Given the description of an element on the screen output the (x, y) to click on. 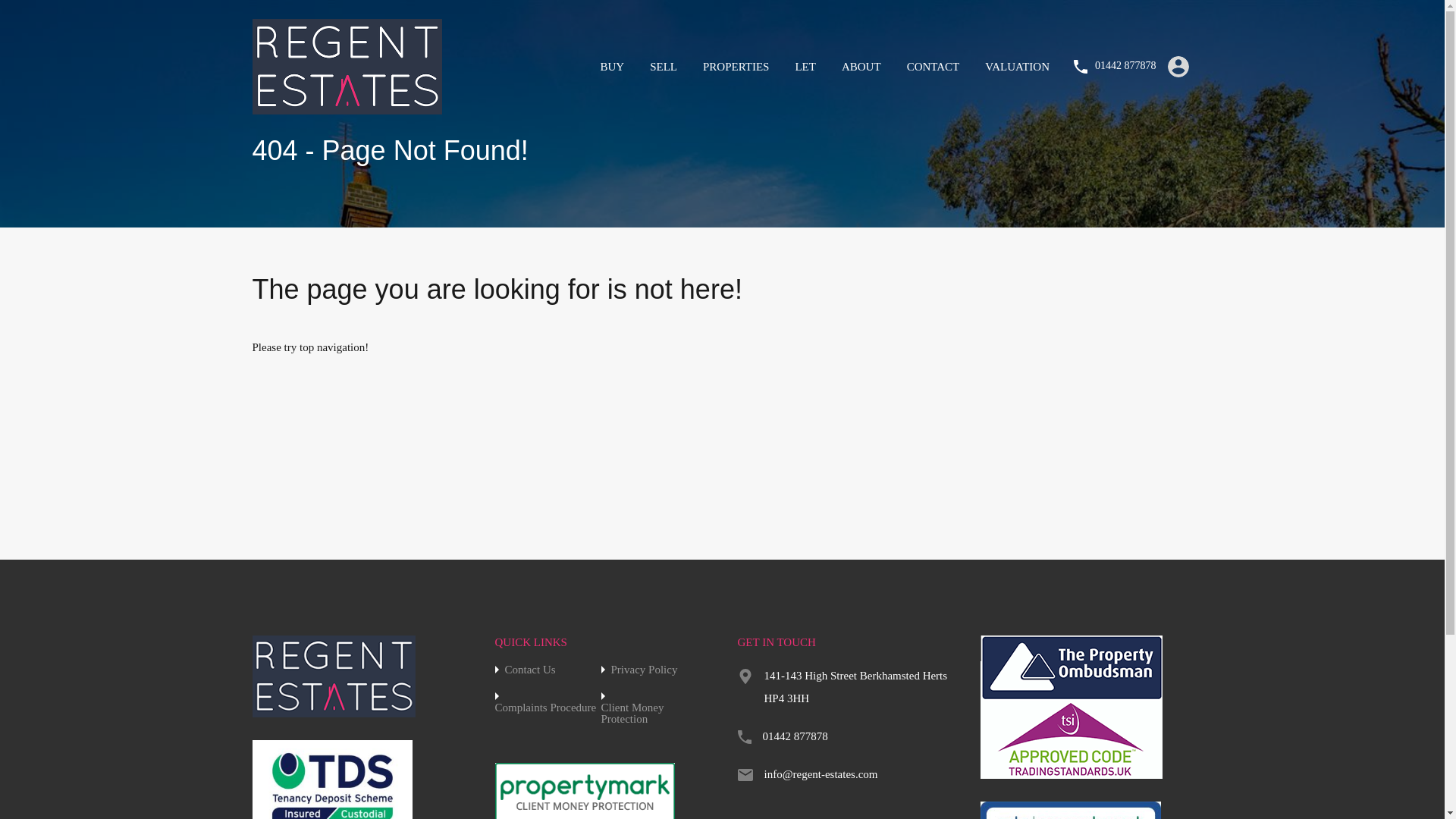
BUY (611, 66)
Regent Estates (346, 106)
01442 877878 (795, 735)
Complaints Procedure (545, 707)
LET (804, 66)
01442 877878 (1125, 65)
VALUATION (1017, 66)
CONTACT (932, 66)
PROPERTIES (735, 66)
Contact Us (530, 669)
